Given the description of an element on the screen output the (x, y) to click on. 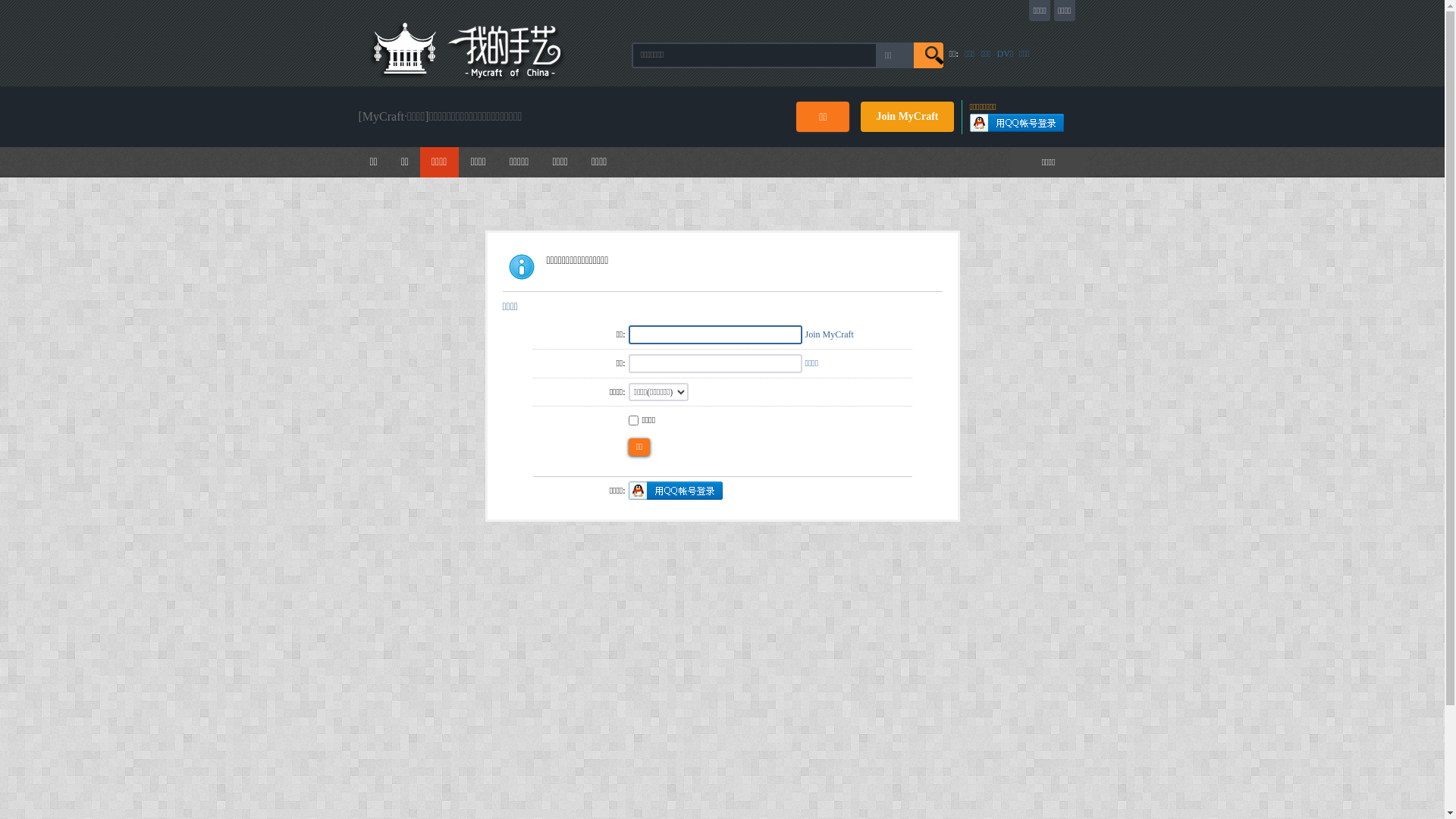
Join MyCraft Element type: text (829, 334)
Join MyCraft Element type: text (906, 116)
